Given the description of an element on the screen output the (x, y) to click on. 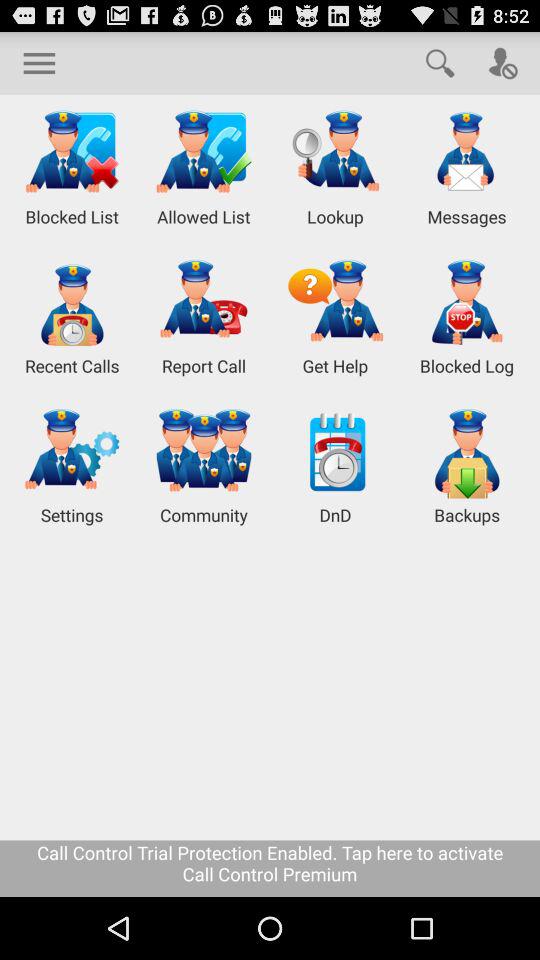
swipe until call control trial (270, 868)
